Given the description of an element on the screen output the (x, y) to click on. 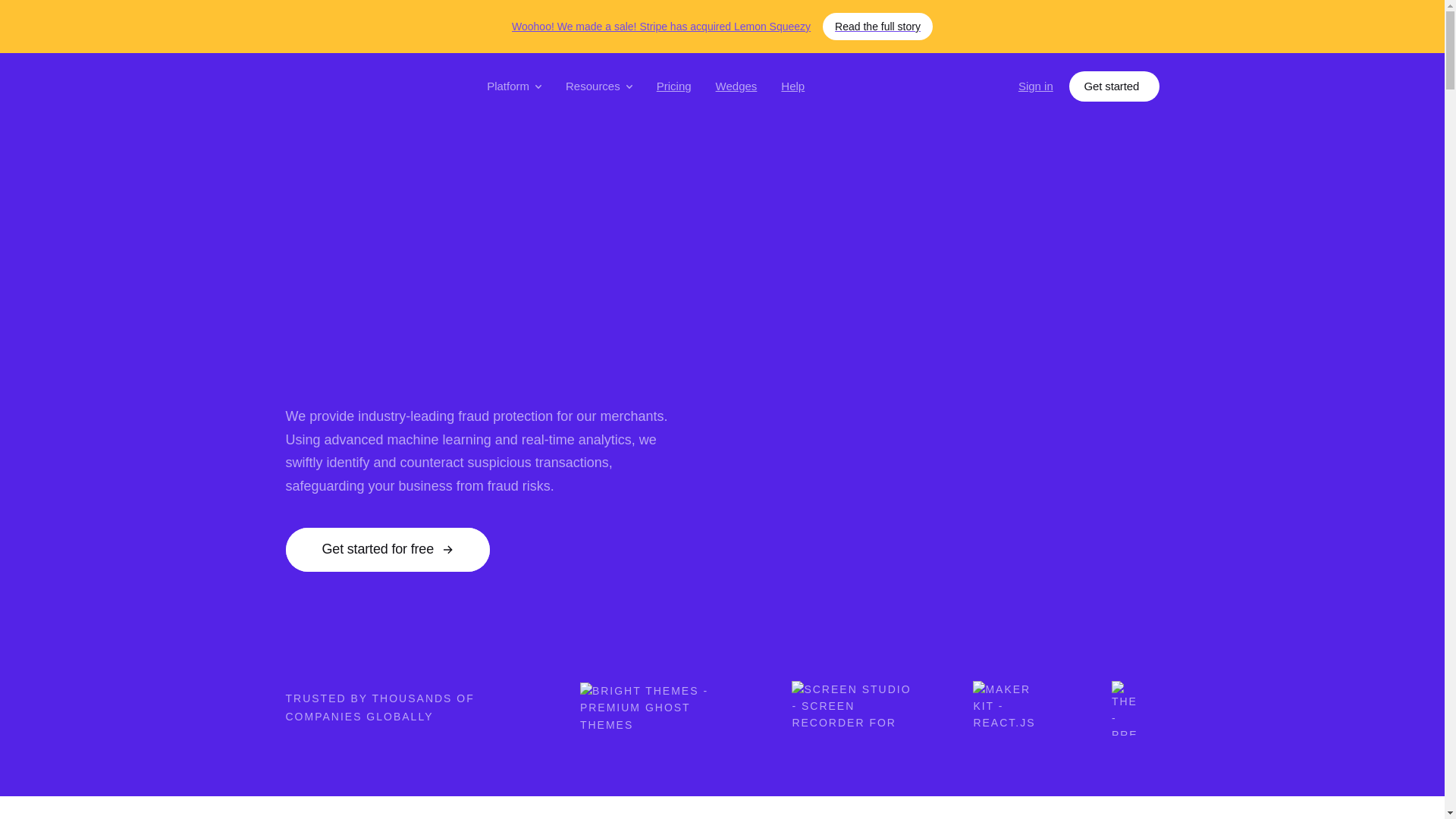
chevron icon (629, 85)
Wedges (736, 86)
chevron icon (538, 85)
Get started for free (387, 548)
Get started (1113, 86)
